Given the description of an element on the screen output the (x, y) to click on. 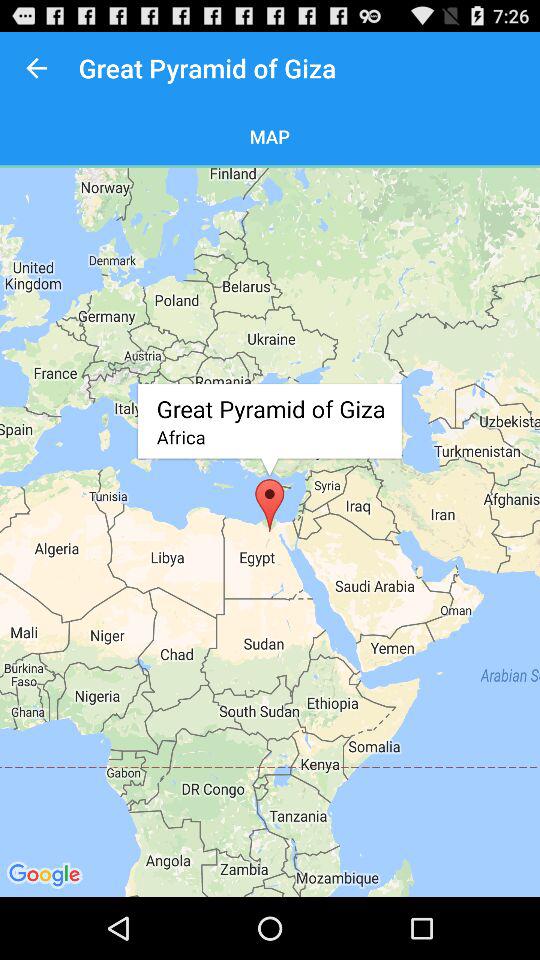
select the icon at the top left corner (36, 68)
